Given the description of an element on the screen output the (x, y) to click on. 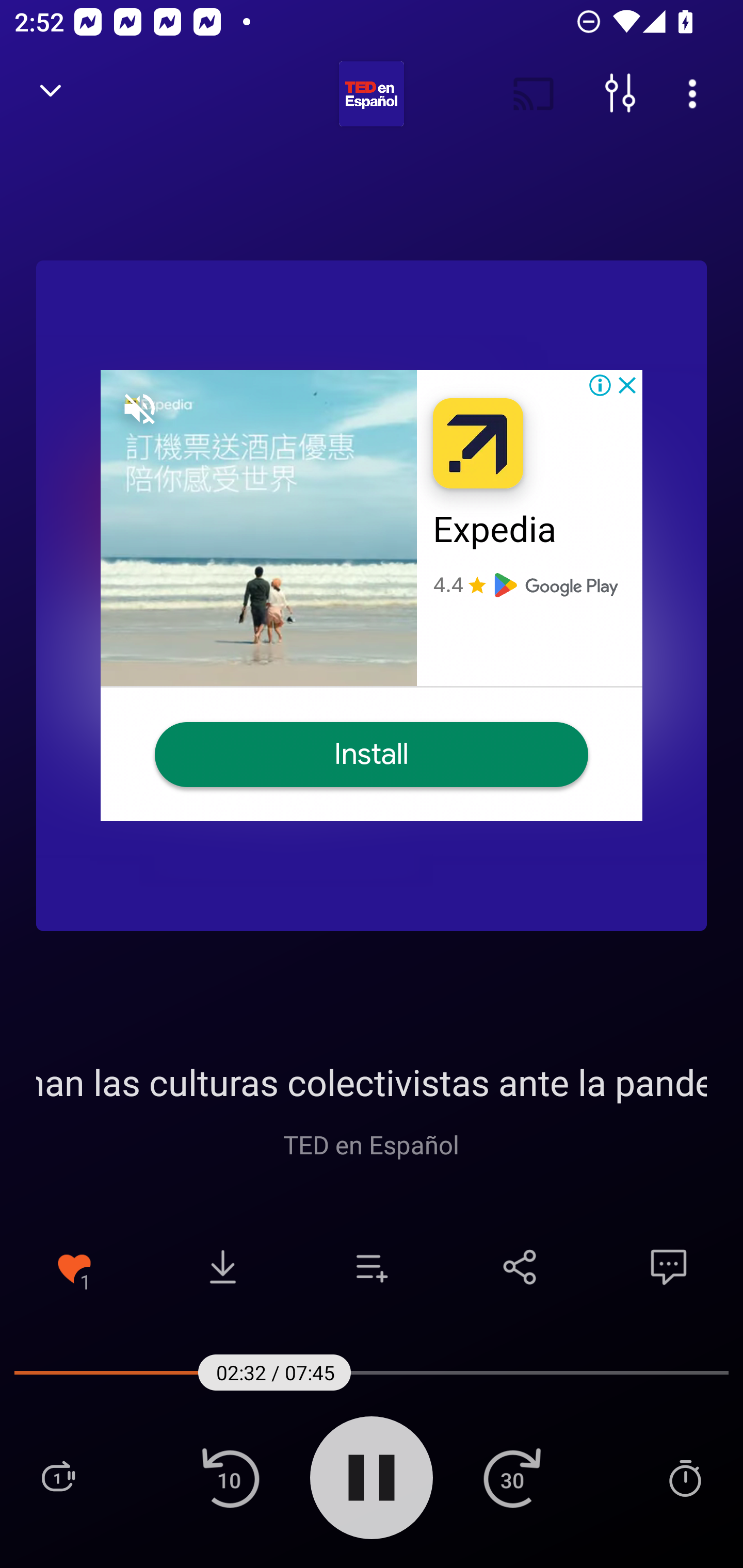
Cast. Disconnected (533, 93)
 Back (50, 94)
Expedia 4.4 Install Install (371, 595)
Install (371, 753)
TED en Español (371, 1144)
Comments (668, 1266)
Remove from Favorites (73, 1266)
Add to playlist (371, 1266)
Share (519, 1266)
 Playlist (57, 1477)
Sleep Timer  (684, 1477)
